Given the description of an element on the screen output the (x, y) to click on. 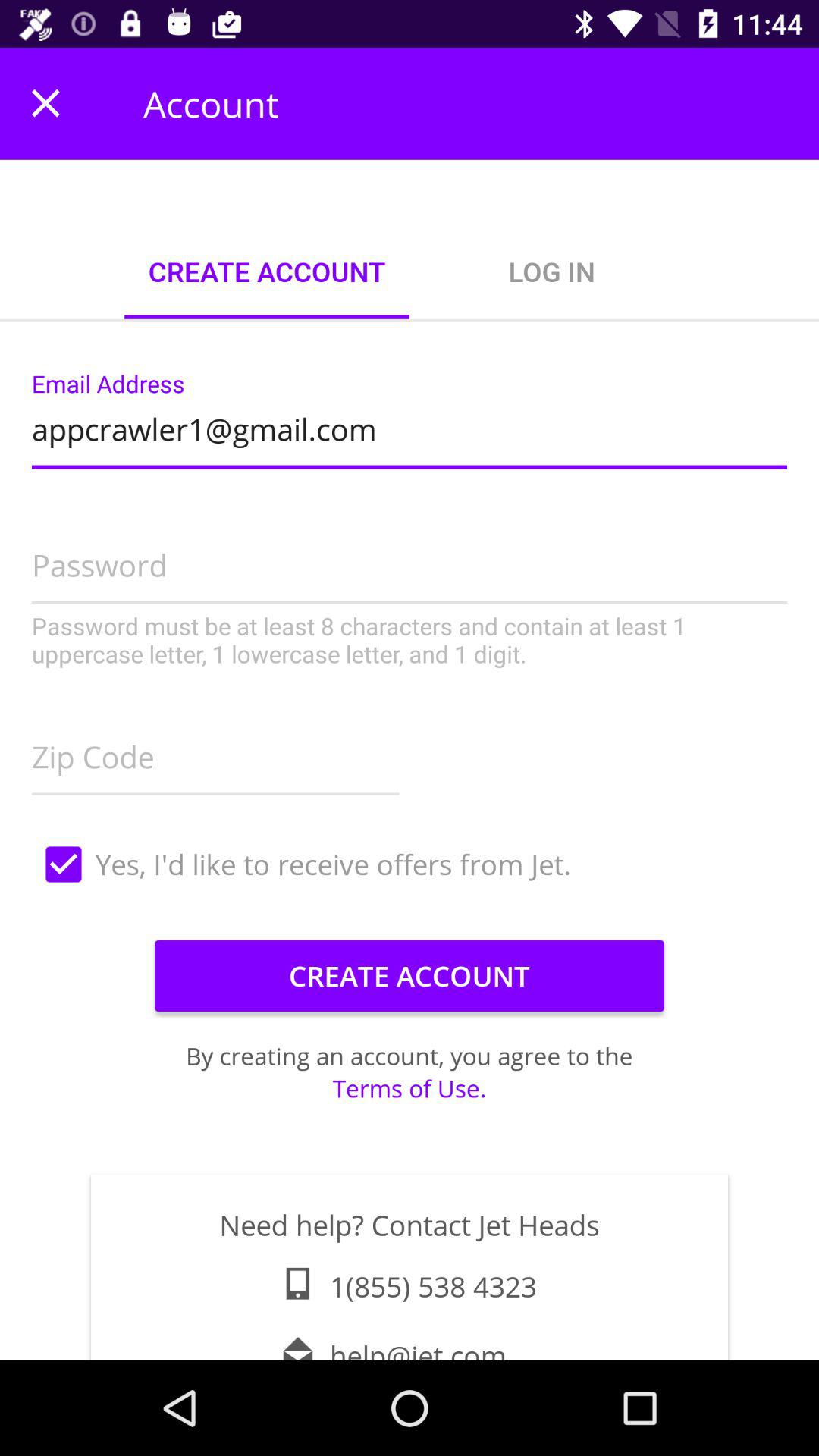
tap appcrawler1@gmail.com item (409, 425)
